Given the description of an element on the screen output the (x, y) to click on. 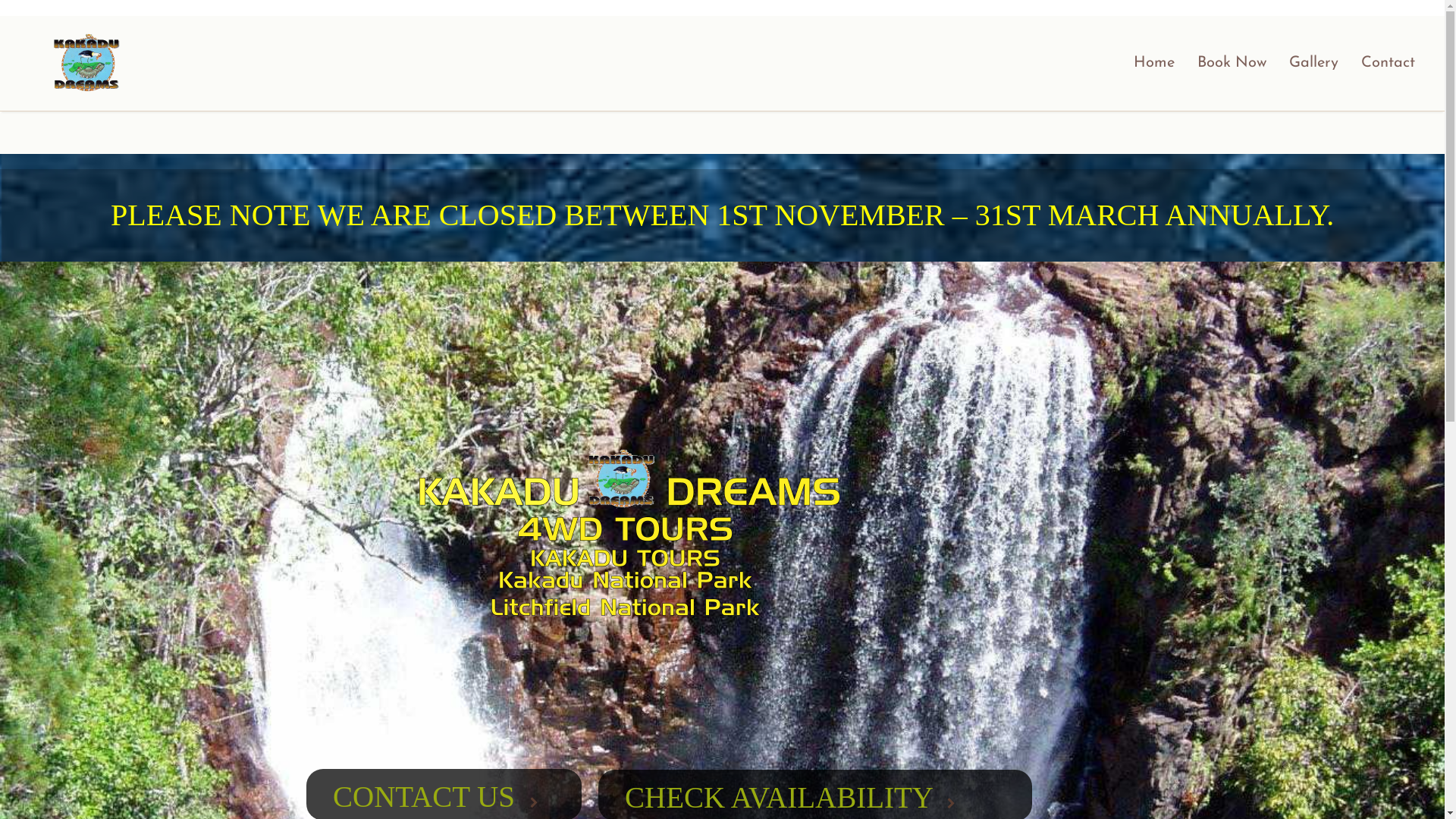
Contact Element type: text (1387, 63)
Gallery Element type: text (1313, 63)
CONTACT US Element type: text (423, 796)
Book Now Element type: text (1231, 63)
Home Element type: text (1154, 63)
CHECK AVAILABILITY Element type: text (778, 797)
